Given the description of an element on the screen output the (x, y) to click on. 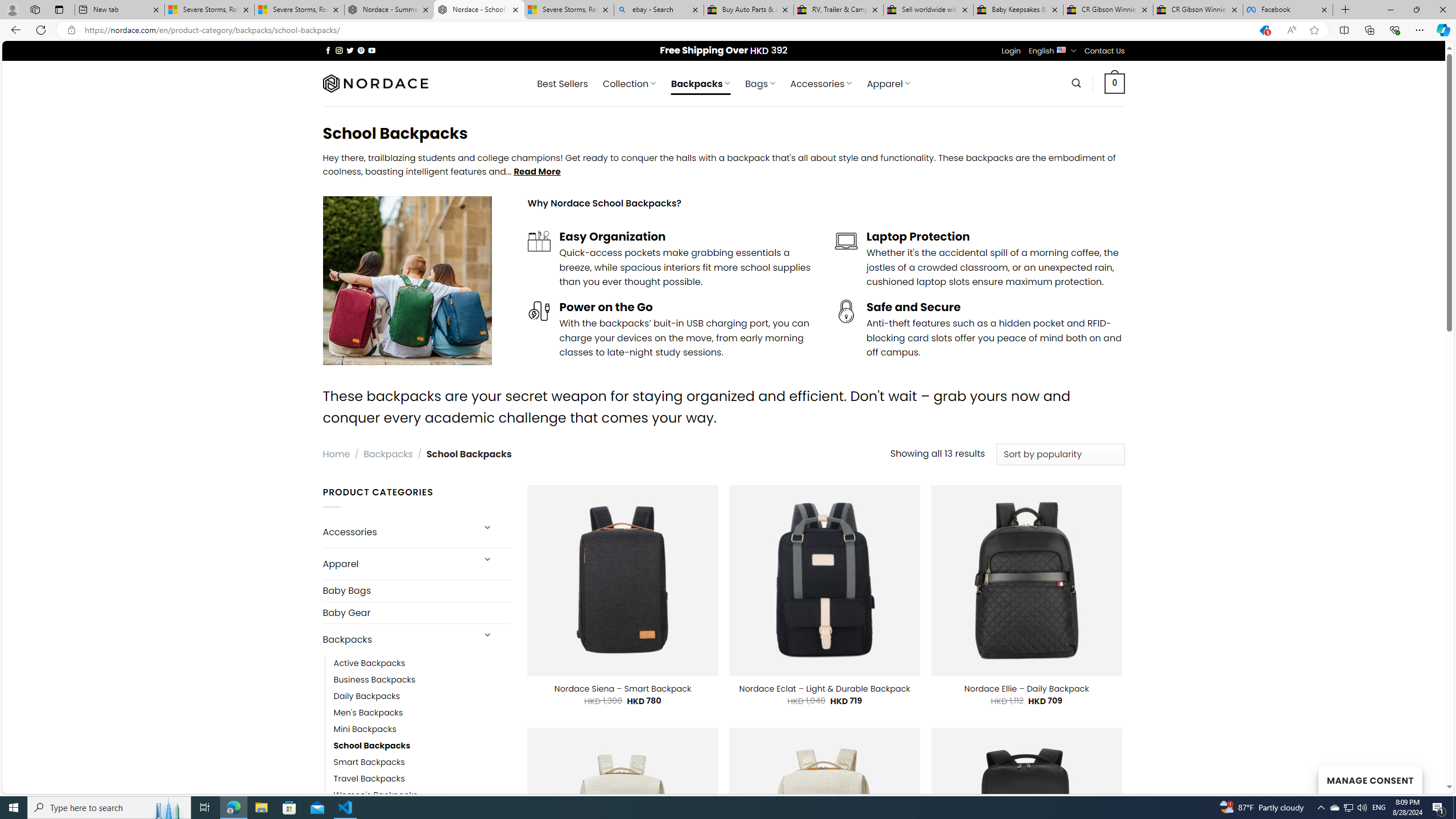
Women's Backpacks (422, 795)
Accessories (397, 531)
Baby Bags (416, 590)
Men's Backpacks (368, 712)
Sell worldwide with eBay (928, 9)
Login (1010, 50)
